Given the description of an element on the screen output the (x, y) to click on. 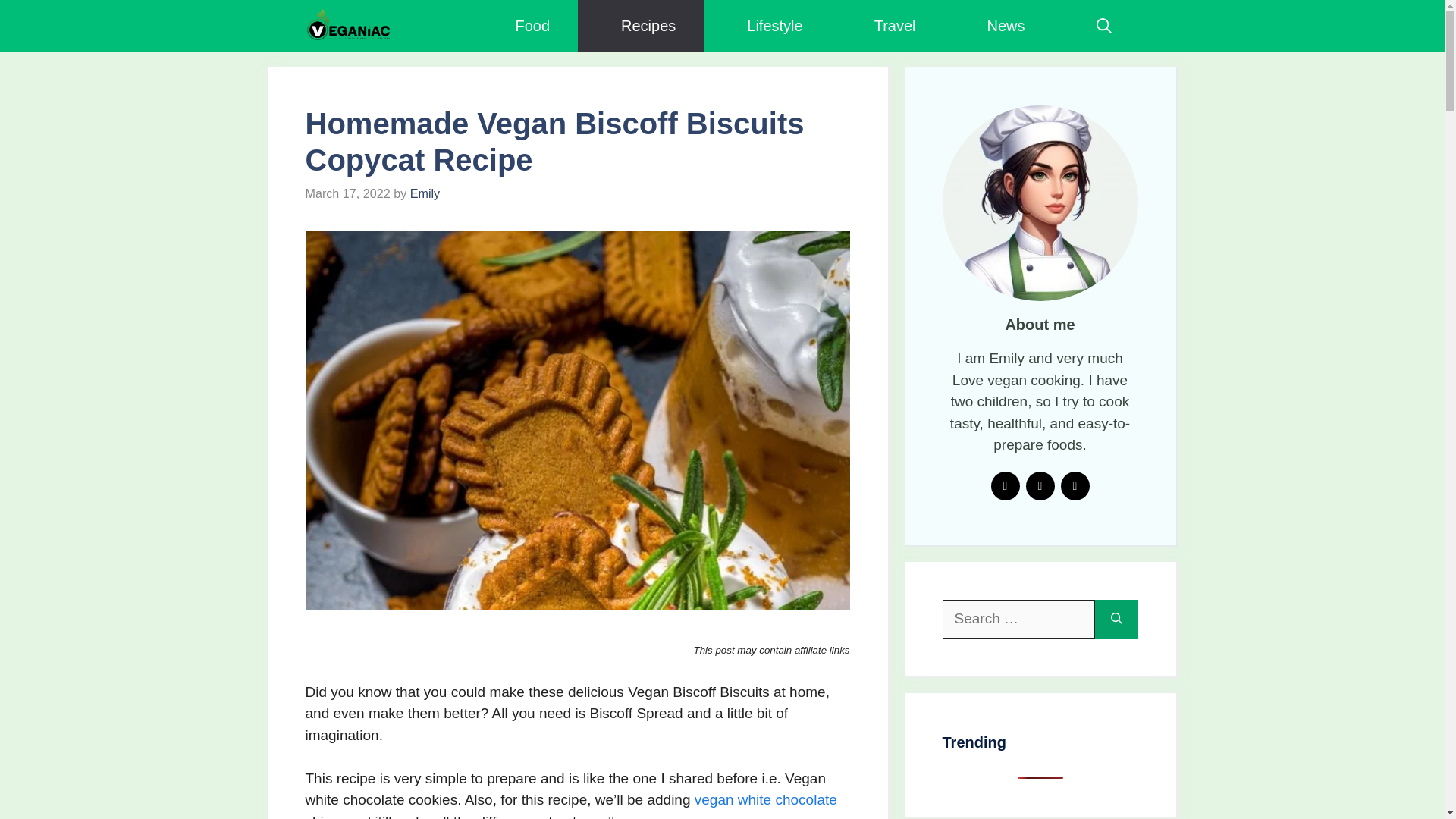
Recipes (640, 26)
Emily (424, 192)
Lifestyle (766, 26)
View all posts by Emily (424, 192)
Food (524, 26)
News (997, 26)
vegan white chocolate (765, 799)
Travel (887, 26)
